Given the description of an element on the screen output the (x, y) to click on. 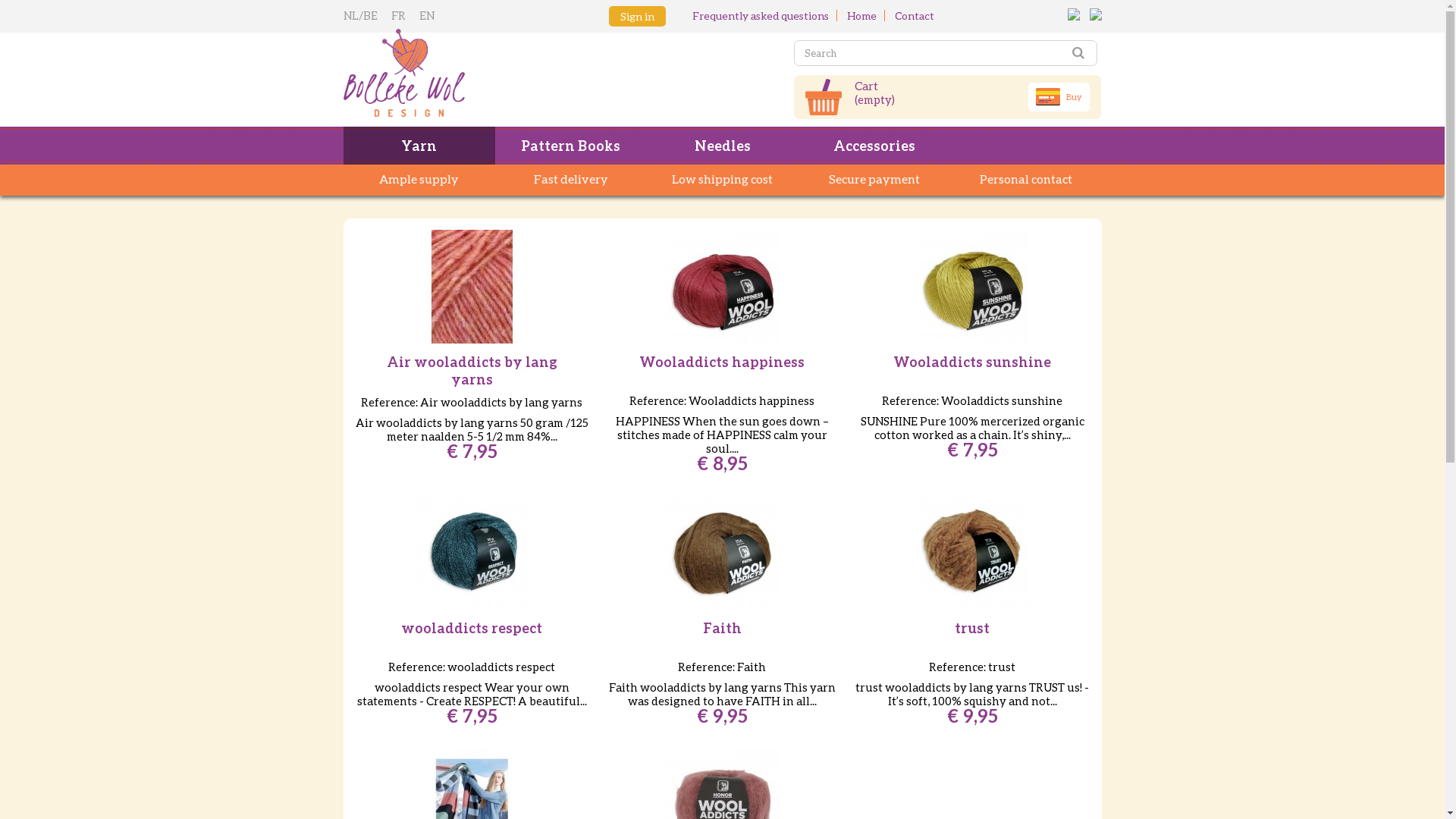
Air wooladdicts by lang yarns Element type: hover (471, 286)
Sign in Element type: text (636, 16)
Wooladdicts happiness Element type: hover (721, 286)
Buy Element type: text (1058, 96)
Bolleke wol design Element type: hover (463, 72)
Faith Element type: hover (721, 552)
Wooladdicts sunshine Element type: hover (971, 286)
Needles Element type: text (721, 145)
NL/BE Element type: text (363, 14)
trust Element type: hover (971, 552)
wooladdicts respect Element type: hover (471, 552)
Wooladdicts happiness Element type: hover (722, 286)
Wooladdicts happiness Element type: text (721, 361)
Yarn Element type: text (418, 145)
Faith Element type: hover (722, 552)
trust Element type: text (972, 628)
Pattern Books Element type: text (570, 145)
Air wooladdicts by lang yarns Element type: text (471, 370)
trust Element type: hover (972, 552)
Air wooladdicts by lang yarns Element type: hover (471, 286)
wooladdicts respect Element type: hover (471, 552)
Frequently asked questions Element type: text (759, 15)
Accessories Element type: text (873, 145)
Contact Element type: text (914, 15)
Cart
(empty) Element type: text (874, 92)
Home Element type: text (860, 15)
Faith Element type: text (721, 628)
Wooladdicts sunshine Element type: hover (972, 286)
Wooladdicts sunshine Element type: text (972, 361)
wooladdicts respect Element type: text (471, 628)
FR Element type: text (402, 14)
